Given the description of an element on the screen output the (x, y) to click on. 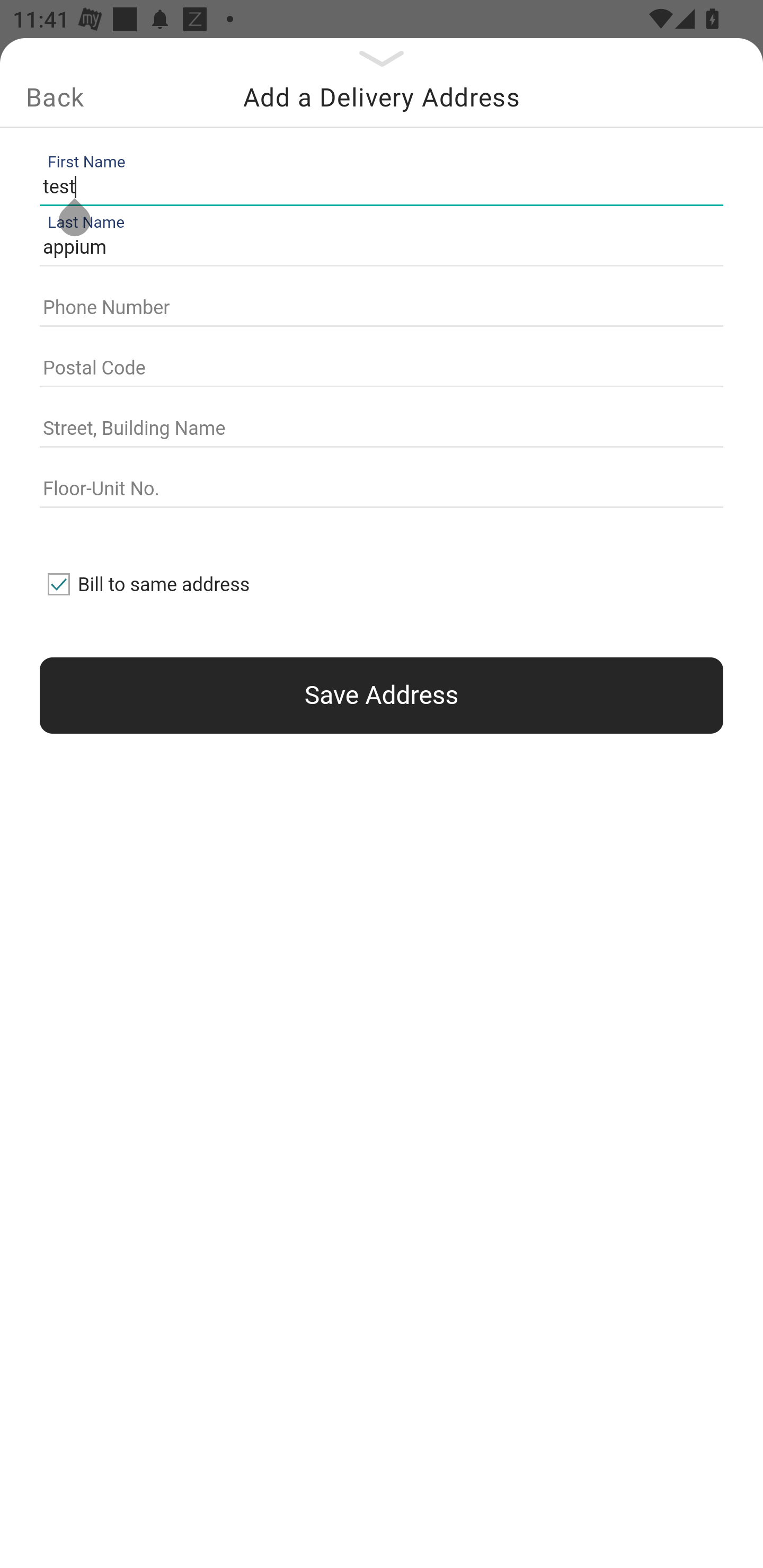
Back (54, 96)
Add a Delivery Address (381, 96)
test (377, 186)
appium (377, 247)
Save Address (381, 694)
